Given the description of an element on the screen output the (x, y) to click on. 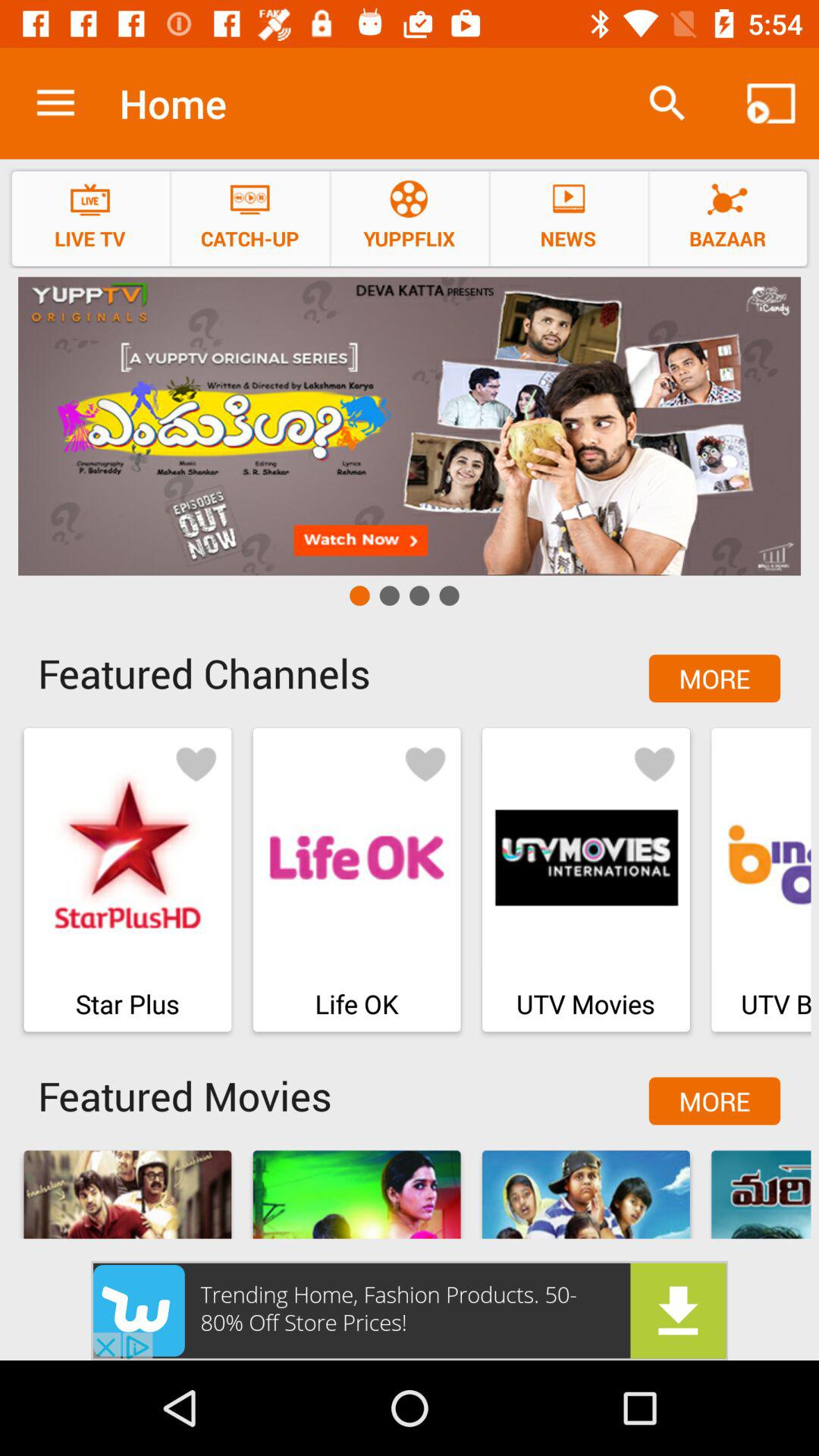
advertisement page (409, 1310)
